Given the description of an element on the screen output the (x, y) to click on. 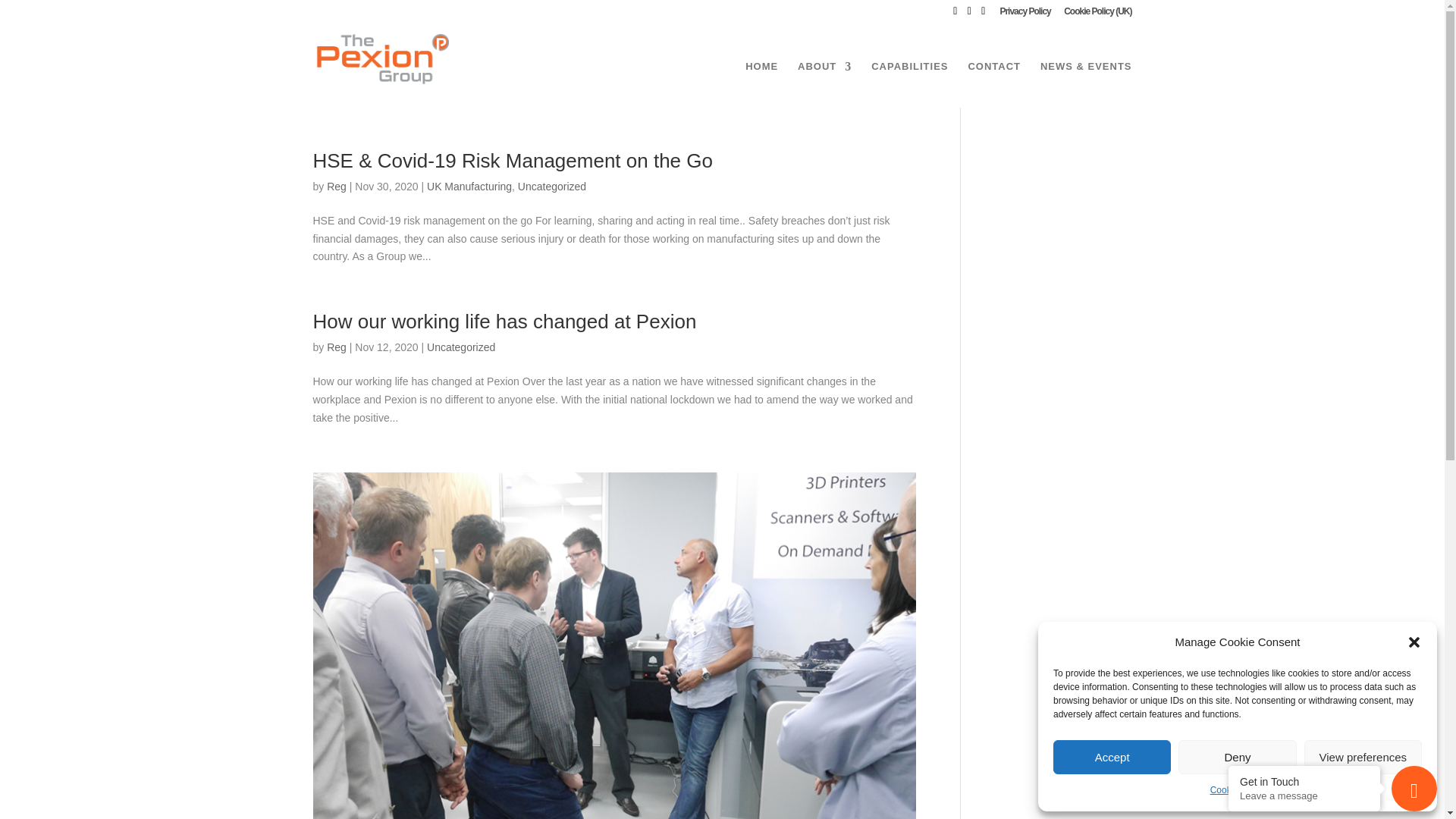
Cookie Policy (1237, 791)
Reg (336, 346)
How our working life has changed at Pexion (504, 321)
Get in Touch (1304, 781)
HOME (761, 83)
ABOUT (824, 83)
Privacy Policy (1023, 14)
Uncategorized (460, 346)
Leave a message (1304, 795)
CAPABILITIES (908, 83)
Deny (1236, 756)
Posts by Reg (336, 186)
Posts by Reg (336, 346)
Accept (1111, 756)
Reg (336, 186)
